Given the description of an element on the screen output the (x, y) to click on. 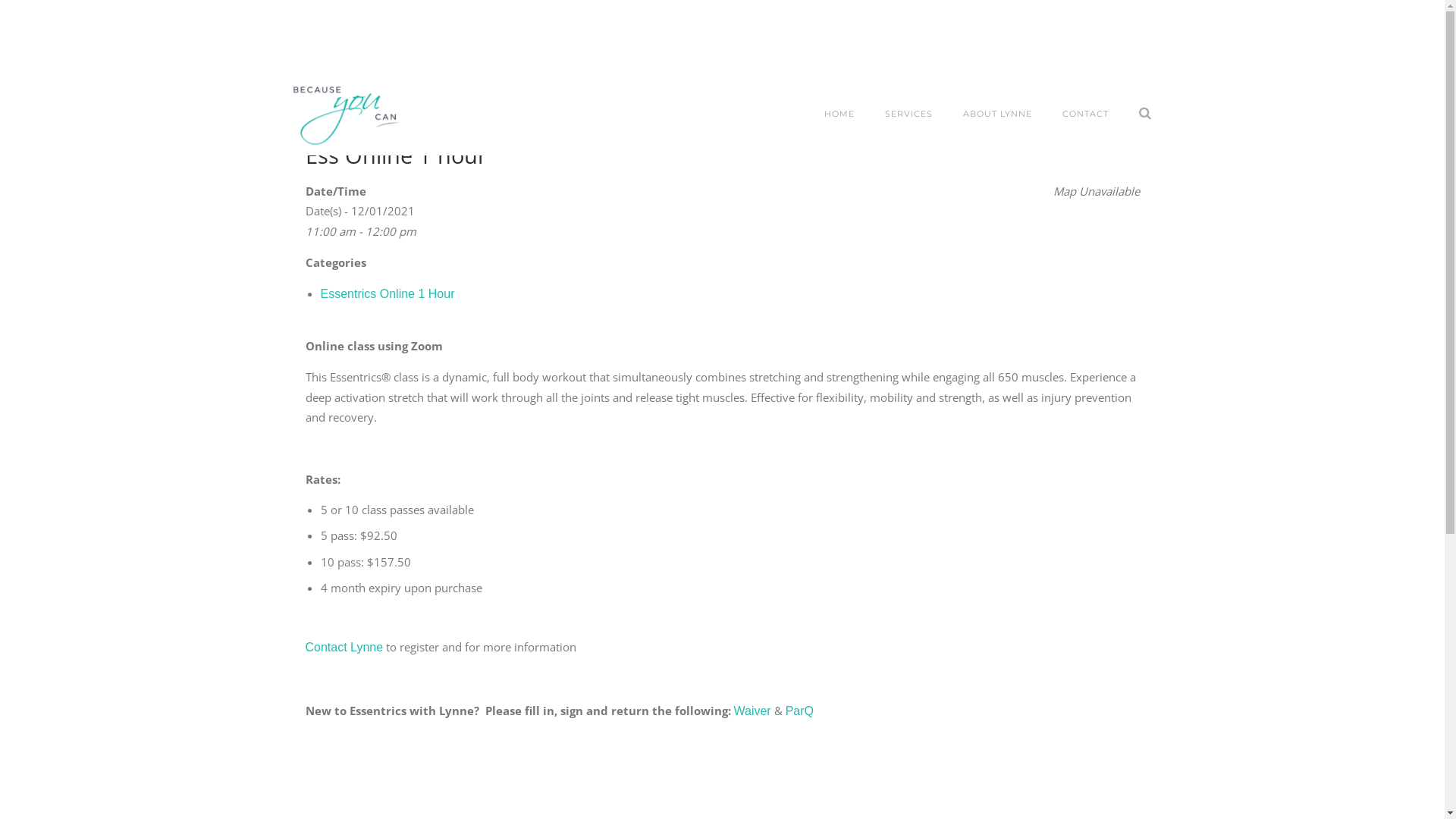
CONTACT Element type: text (1084, 115)
ParQ Element type: text (799, 710)
Essentrics Online 1 Hour Element type: text (387, 293)
SERVICES Element type: text (908, 115)
Search Element type: text (23, 12)
ABOUT LYNNE Element type: text (997, 115)
Waiver Element type: text (752, 710)
Contact Lynne Element type: text (343, 646)
HOME Element type: text (838, 115)
